Given the description of an element on the screen output the (x, y) to click on. 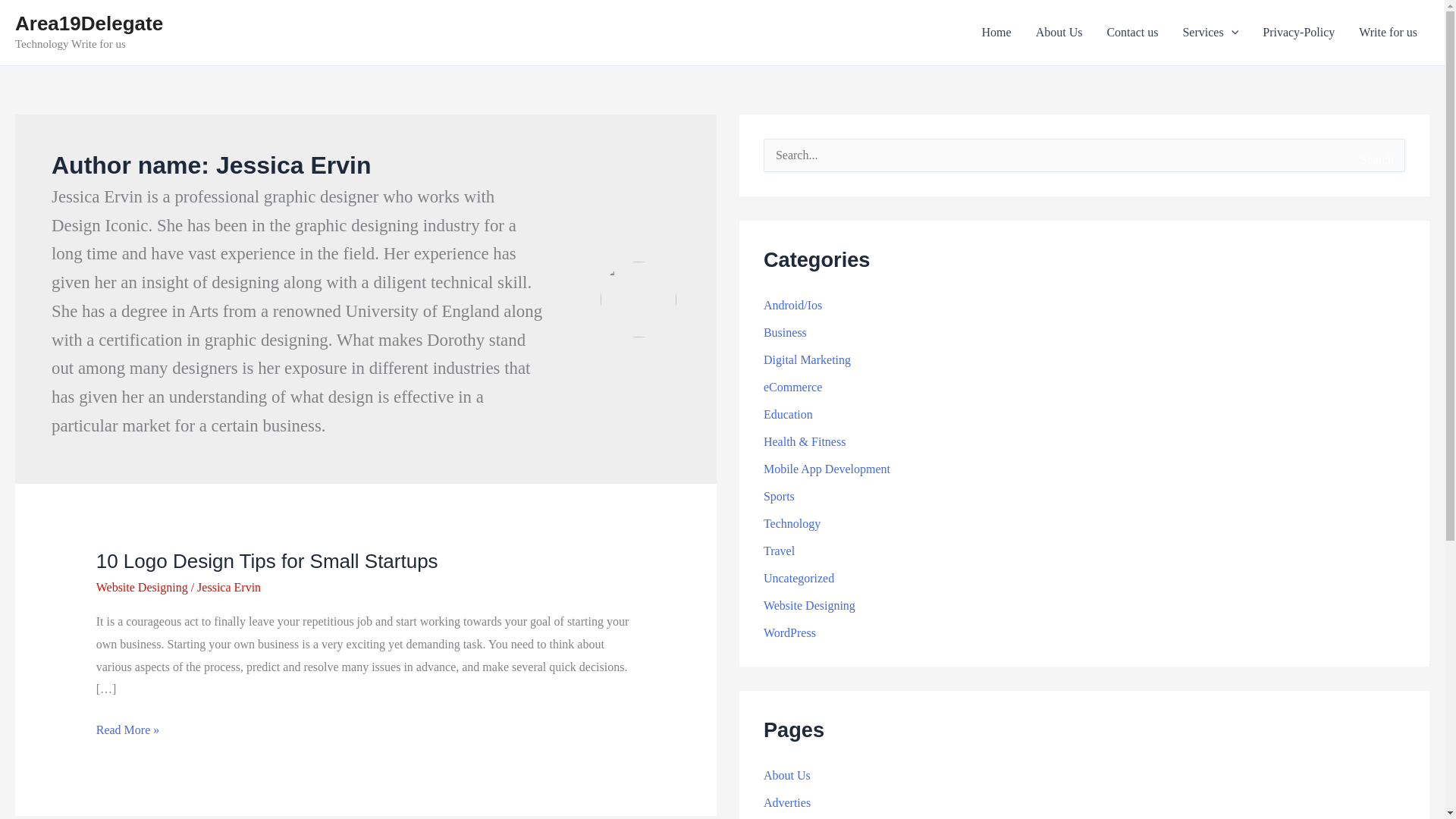
Jessica Ervin (228, 586)
Contact us (1132, 32)
eCommerce (792, 386)
Privacy-Policy (1298, 32)
10 Logo Design Tips for Small Startups (267, 560)
Business (784, 332)
Search (1376, 159)
Website Designing (141, 586)
Digital Marketing (806, 359)
Education (787, 413)
